Given the description of an element on the screen output the (x, y) to click on. 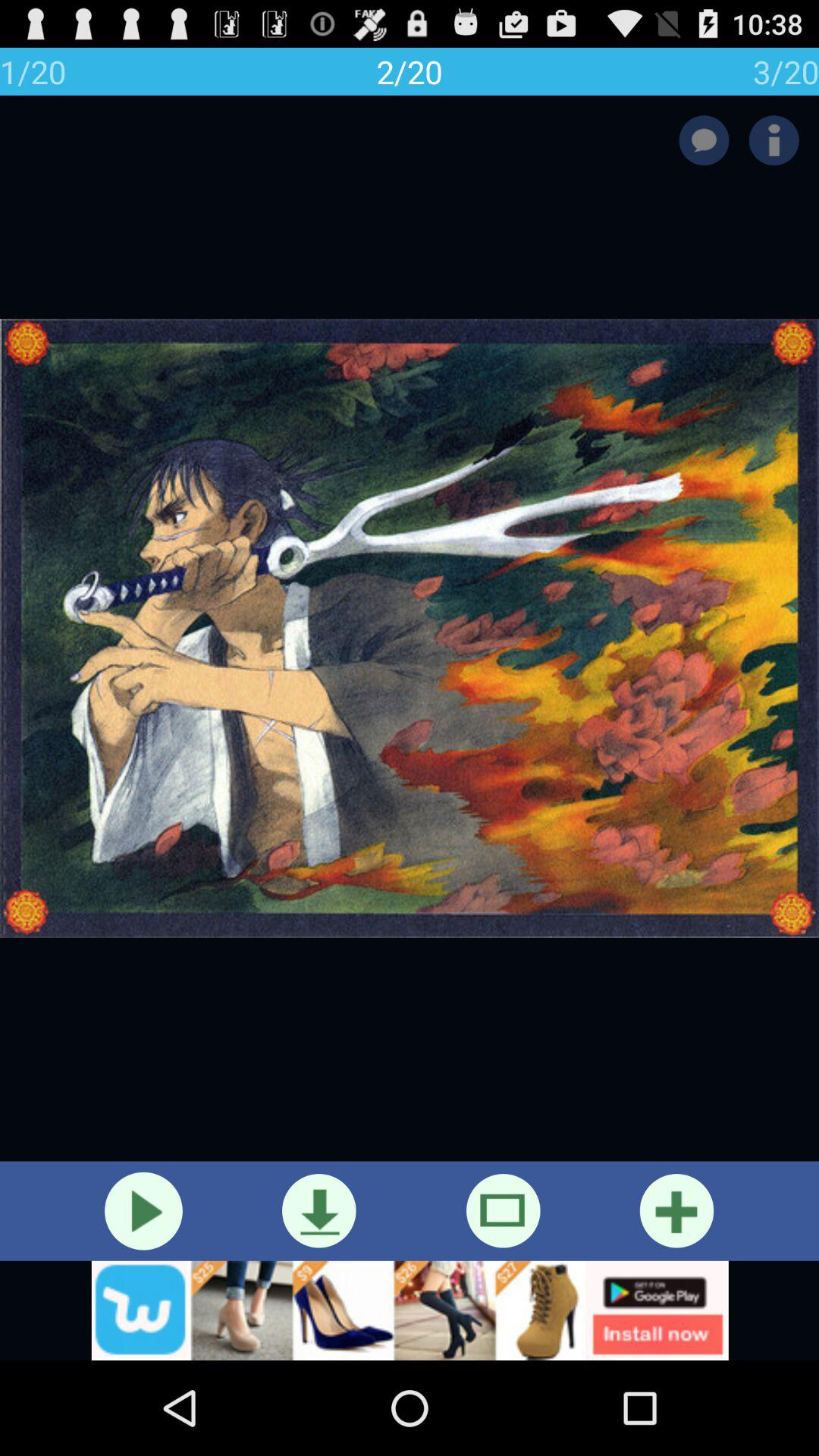
add to favorites (676, 1210)
